Given the description of an element on the screen output the (x, y) to click on. 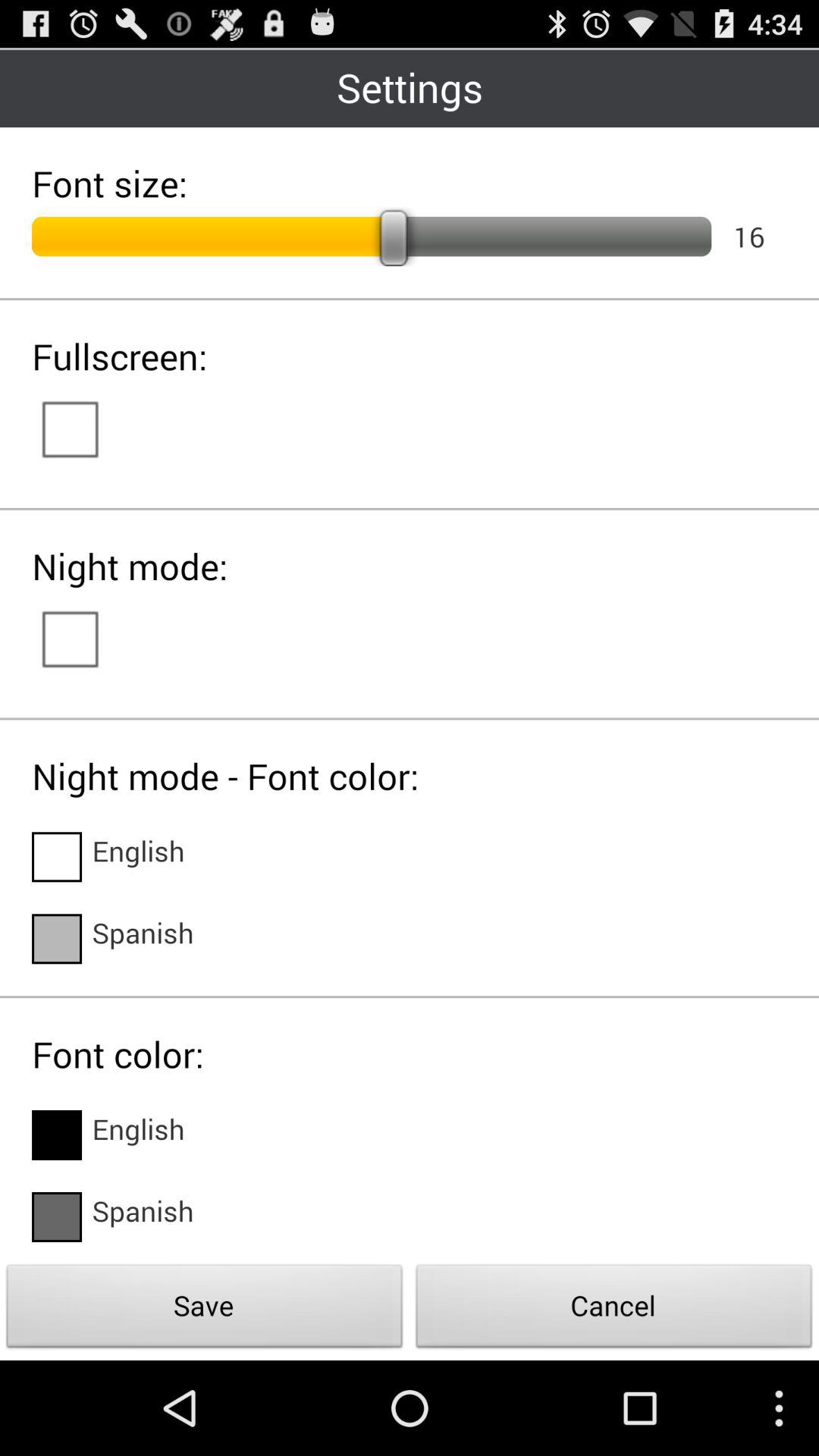
check this field (56, 1217)
